Given the description of an element on the screen output the (x, y) to click on. 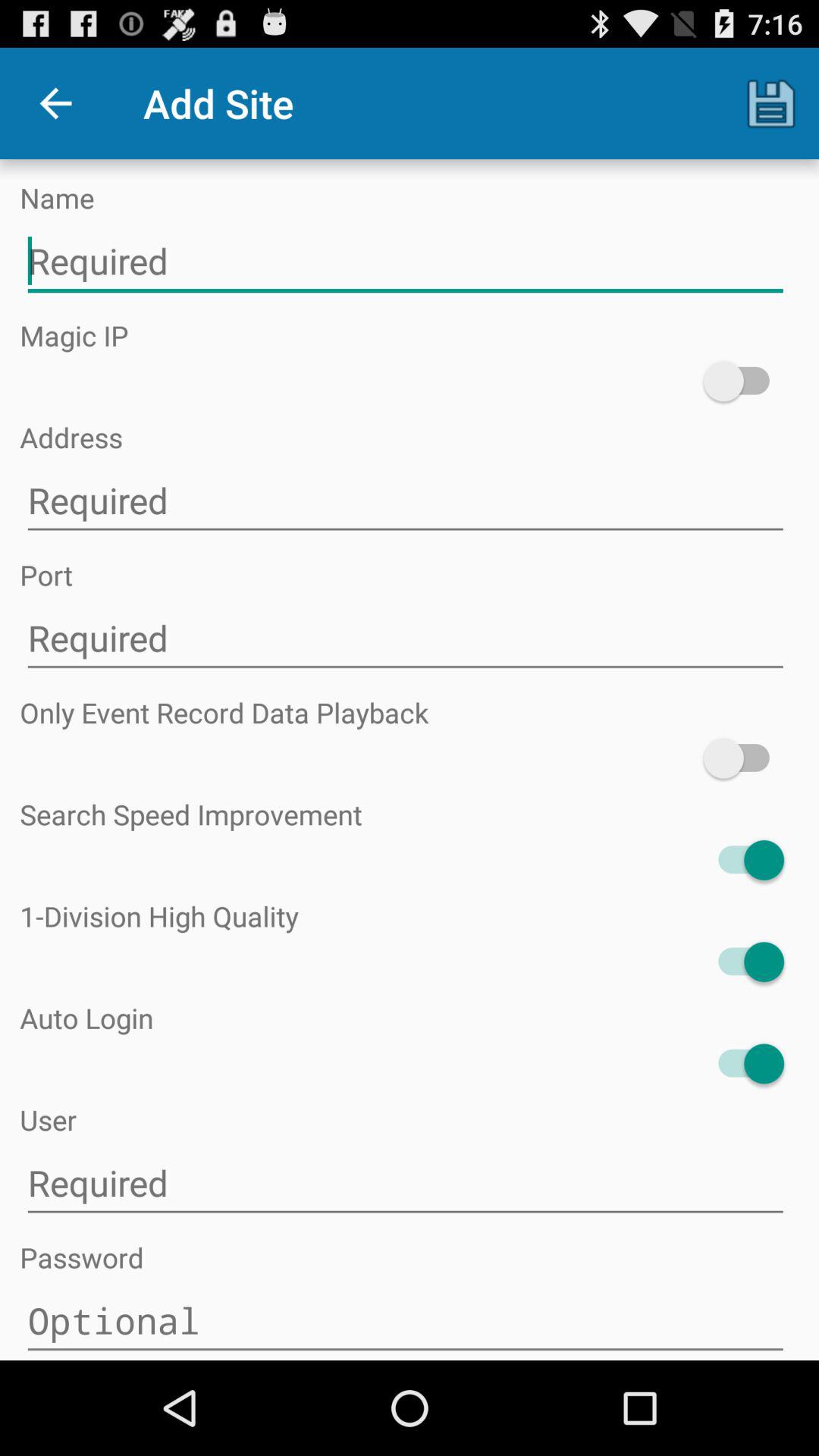
auto login slider (743, 1063)
